Given the description of an element on the screen output the (x, y) to click on. 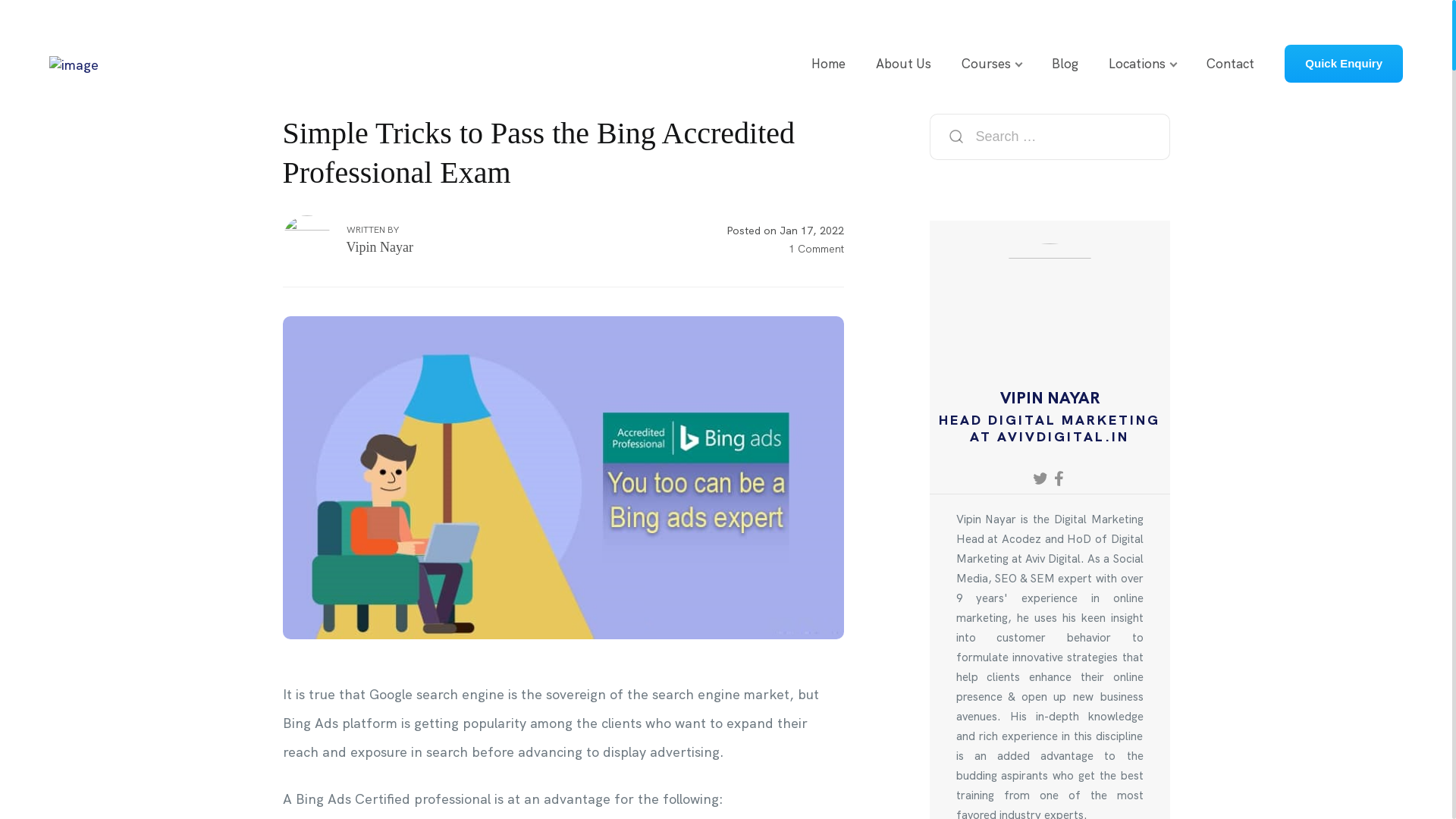
Simple Tricks to Pass the Bing Accredited Professional Exam Element type: hover (562, 477)
Locations Element type: text (1136, 62)
Courses Element type: text (985, 62)
Blog Element type: text (1064, 62)
Home Element type: text (828, 62)
About Us Element type: text (903, 62)
AvivDigital Element type: hover (73, 63)
Contact Element type: text (1230, 62)
Search Element type: text (956, 136)
Quick Enquiry Element type: text (1343, 62)
